Given the description of an element on the screen output the (x, y) to click on. 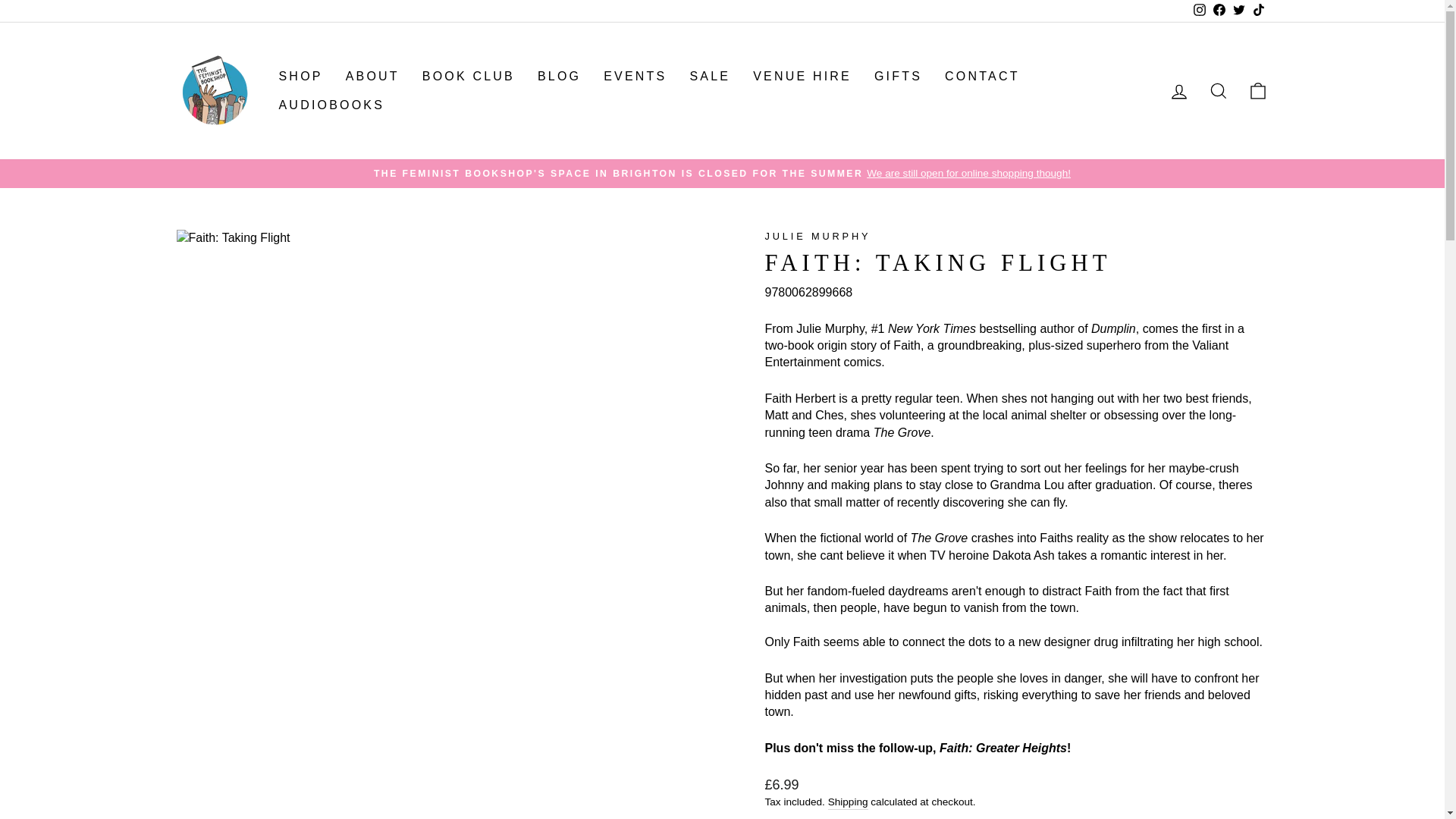
The Feminist Bookshop on Instagram (1198, 11)
Julie Murphy (817, 235)
The Feminist Bookshop on Facebook (1218, 11)
The Feminist Bookshop on Twitter (1237, 11)
The Feminist Bookshop on TikTok (1257, 11)
